Given the description of an element on the screen output the (x, y) to click on. 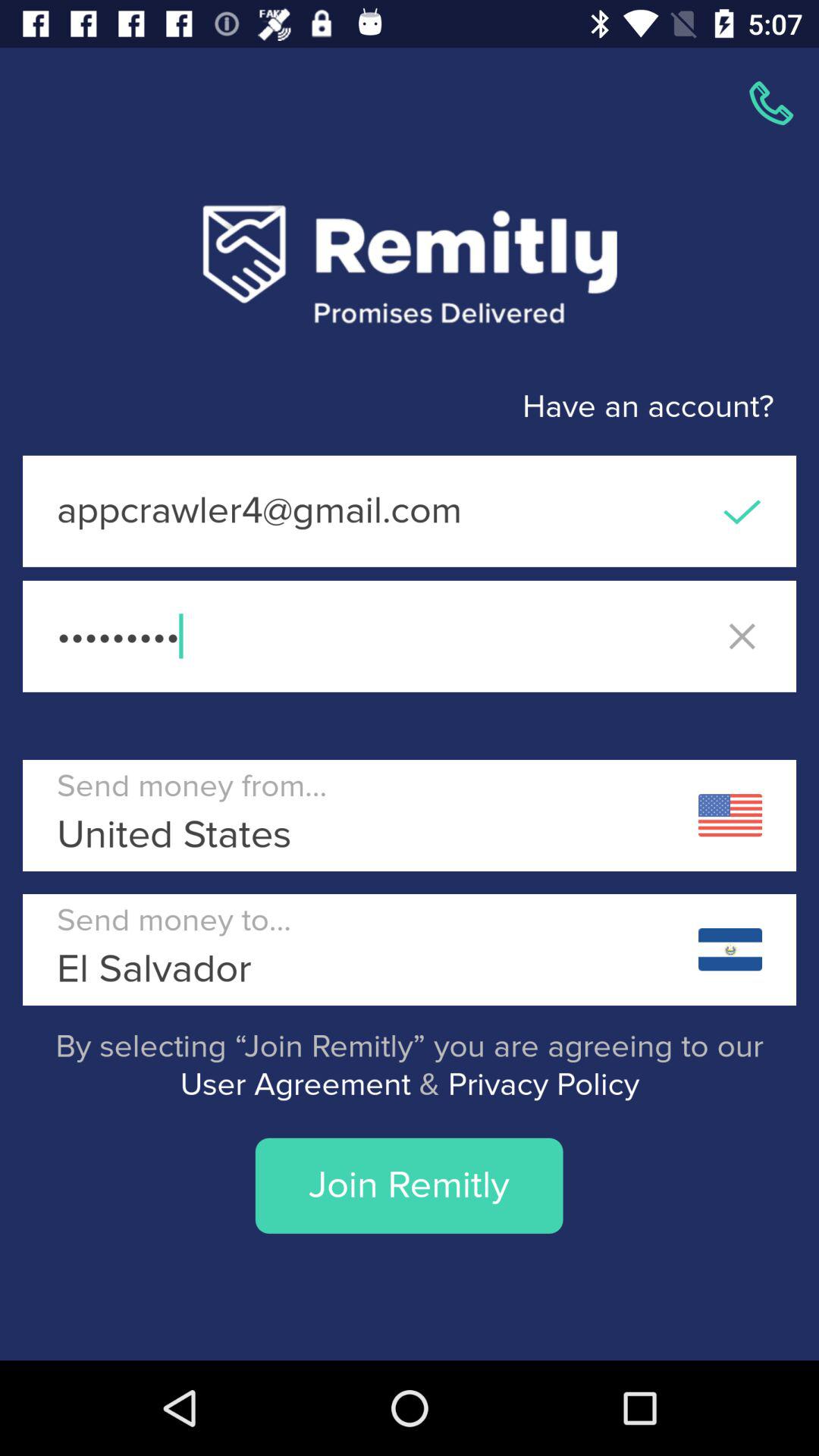
tap the crowd3116 item (409, 636)
